Given the description of an element on the screen output the (x, y) to click on. 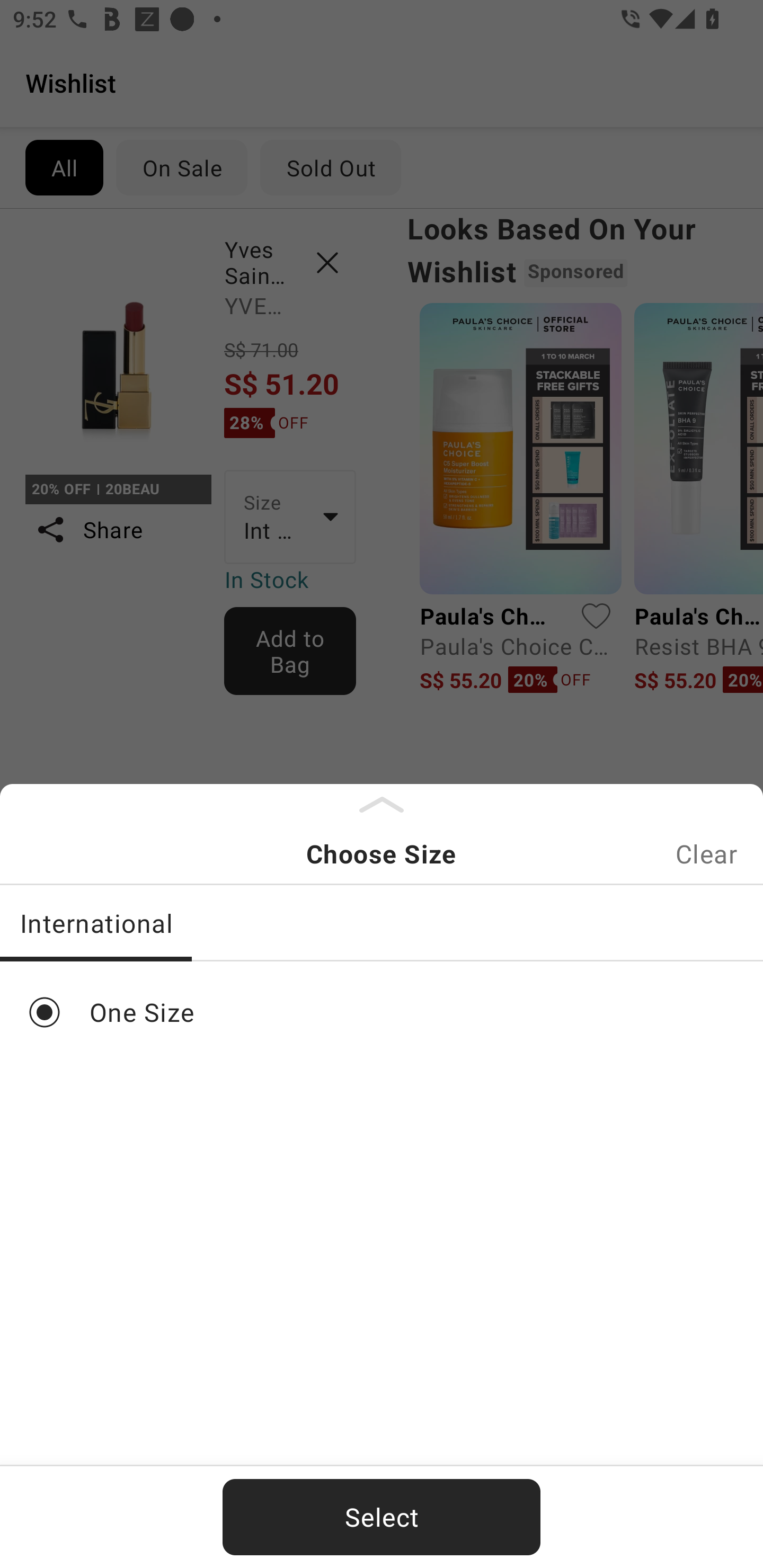
Clear (706, 852)
One Size (381, 1011)
Select (381, 1516)
